Given the description of an element on the screen output the (x, y) to click on. 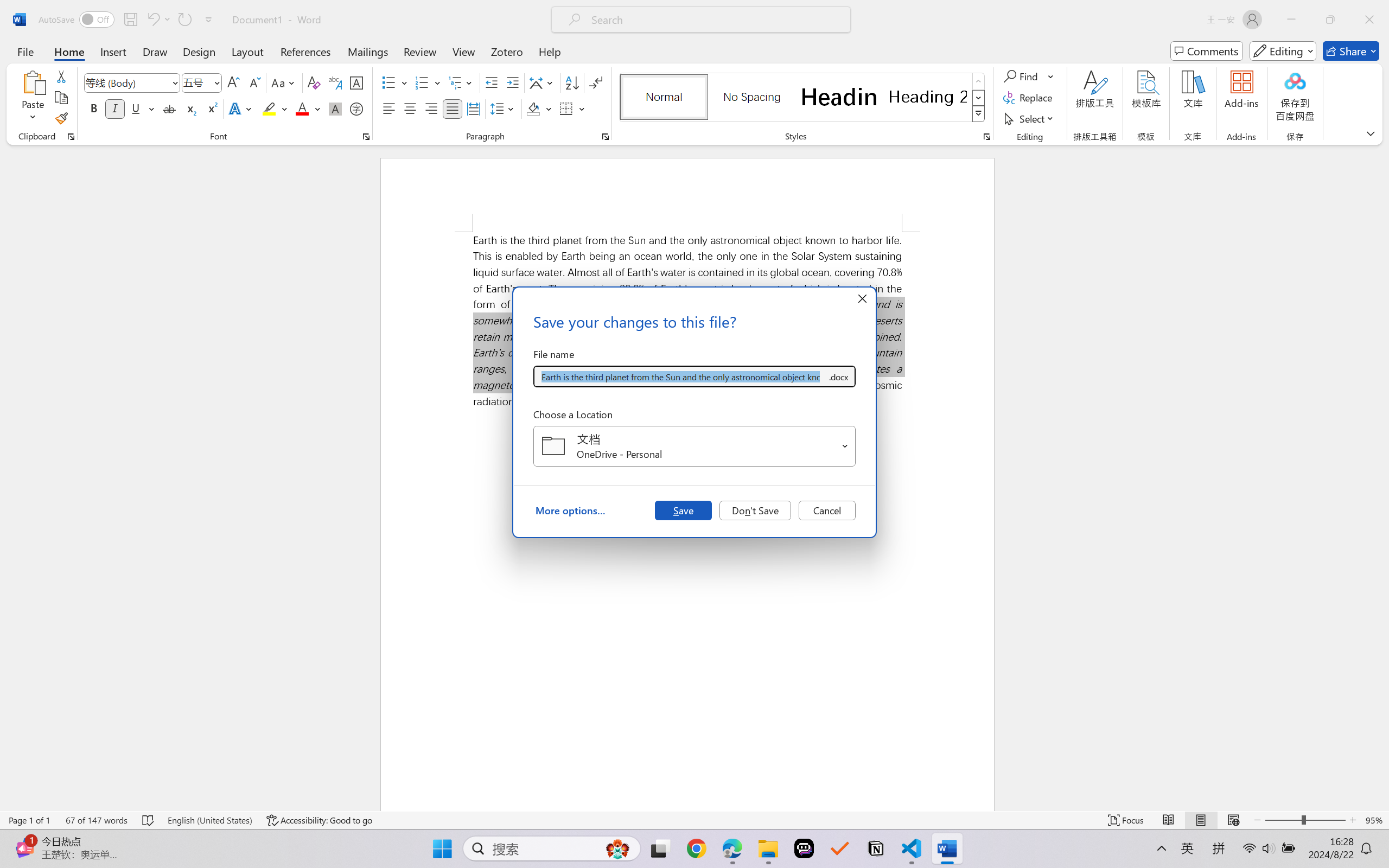
Grow Font (233, 82)
Page Number Page 1 of 1 (29, 819)
Enclose Characters... (356, 108)
Decrease Indent (491, 82)
Poe (804, 848)
Office Clipboard... (70, 136)
Class: NetUIScrollBar (1382, 477)
Asian Layout (542, 82)
Class: MsoCommandBar (694, 819)
